Given the description of an element on the screen output the (x, y) to click on. 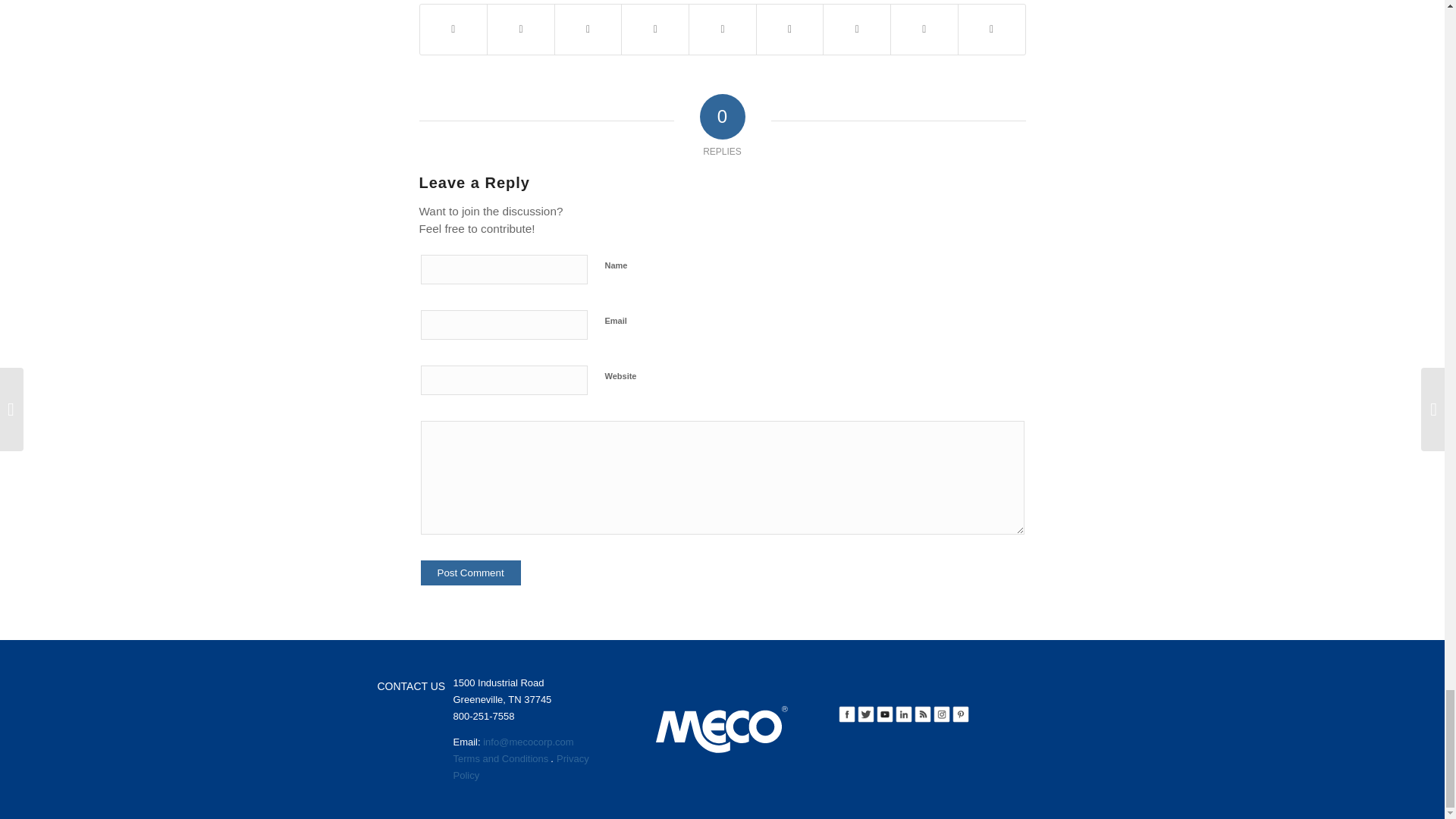
Visit Us On Facebook (846, 714)
Visit Us On Twitter (865, 714)
MecoLogo (721, 728)
Post Comment (469, 572)
